Given the description of an element on the screen output the (x, y) to click on. 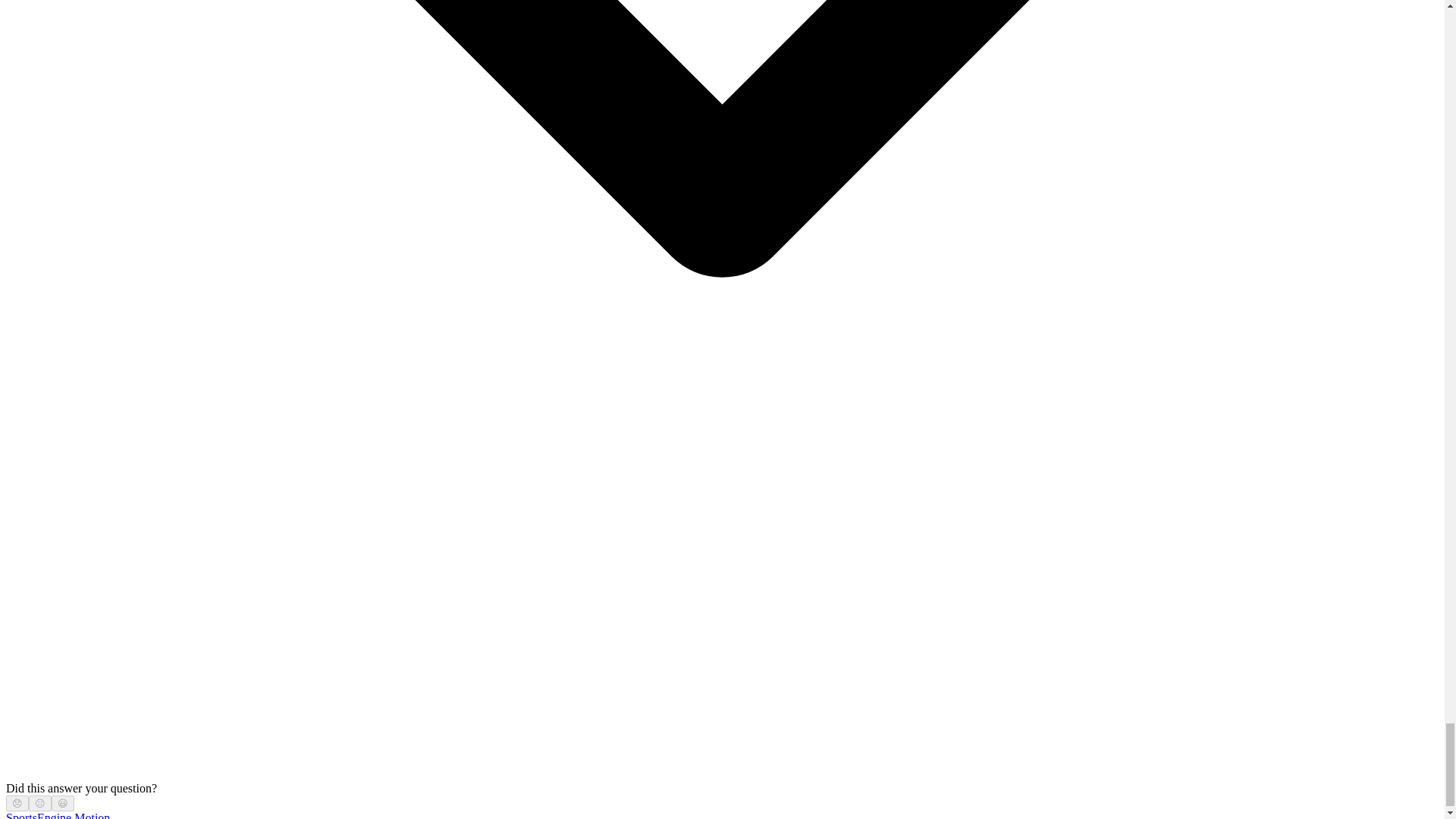
Neutral (39, 803)
Smiley (63, 803)
Disappointed (17, 803)
